Given the description of an element on the screen output the (x, y) to click on. 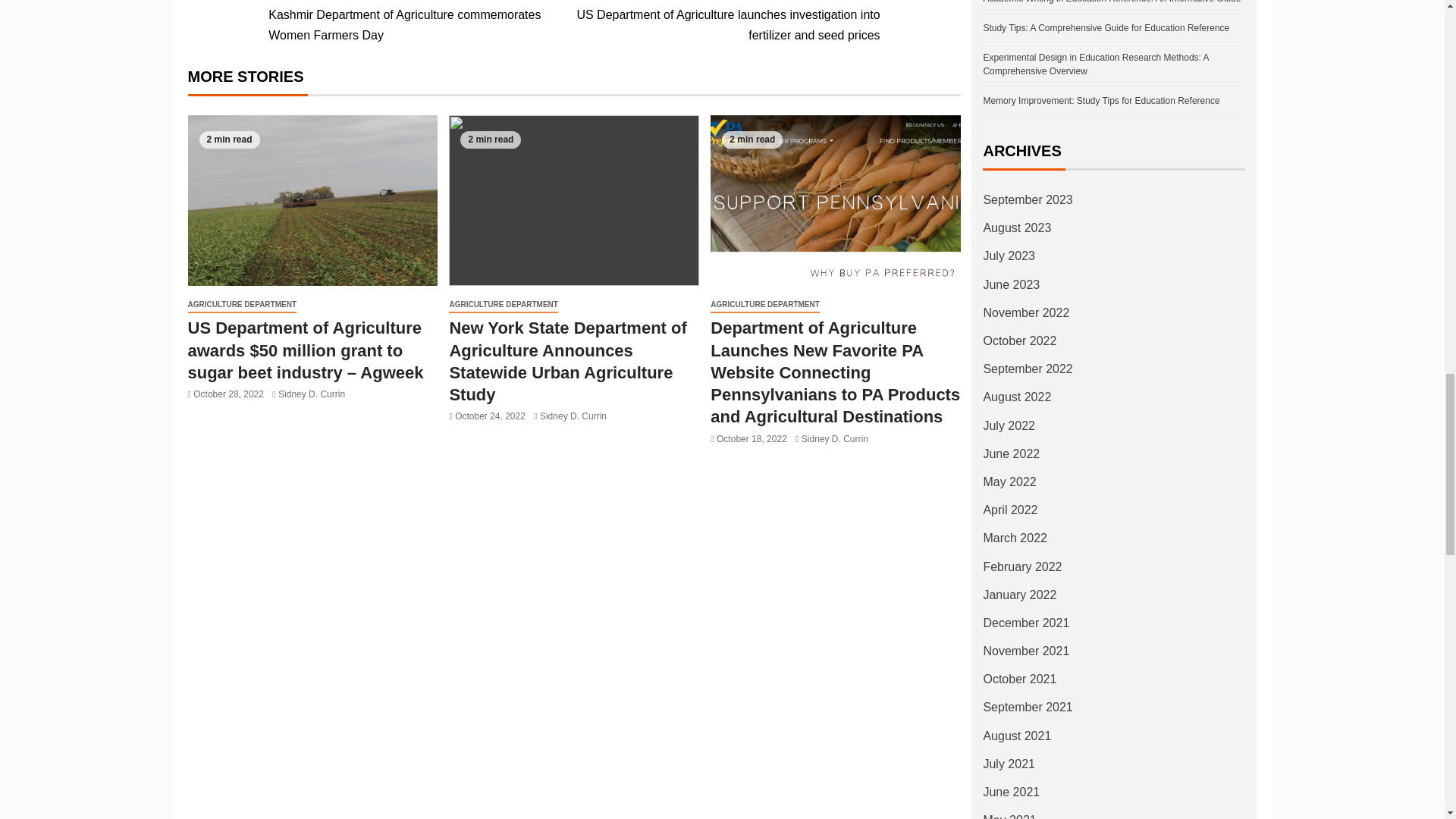
AGRICULTURE DEPARTMENT (242, 304)
